Given the description of an element on the screen output the (x, y) to click on. 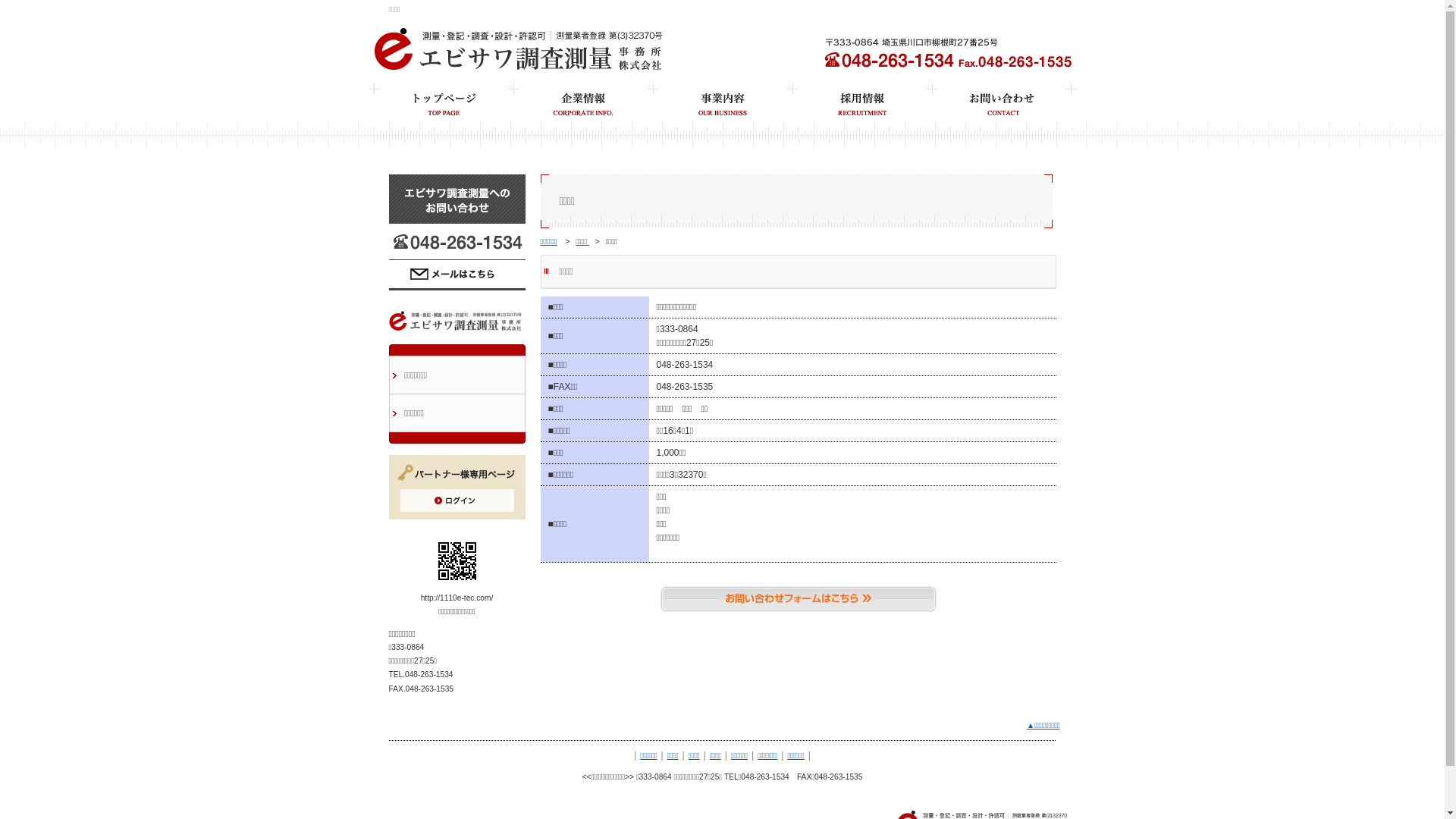
  Element type: text (861, 119)
  Element type: text (442, 119)
  Element type: text (1000, 119)
  Element type: text (721, 119)
  Element type: text (582, 119)
